Given the description of an element on the screen output the (x, y) to click on. 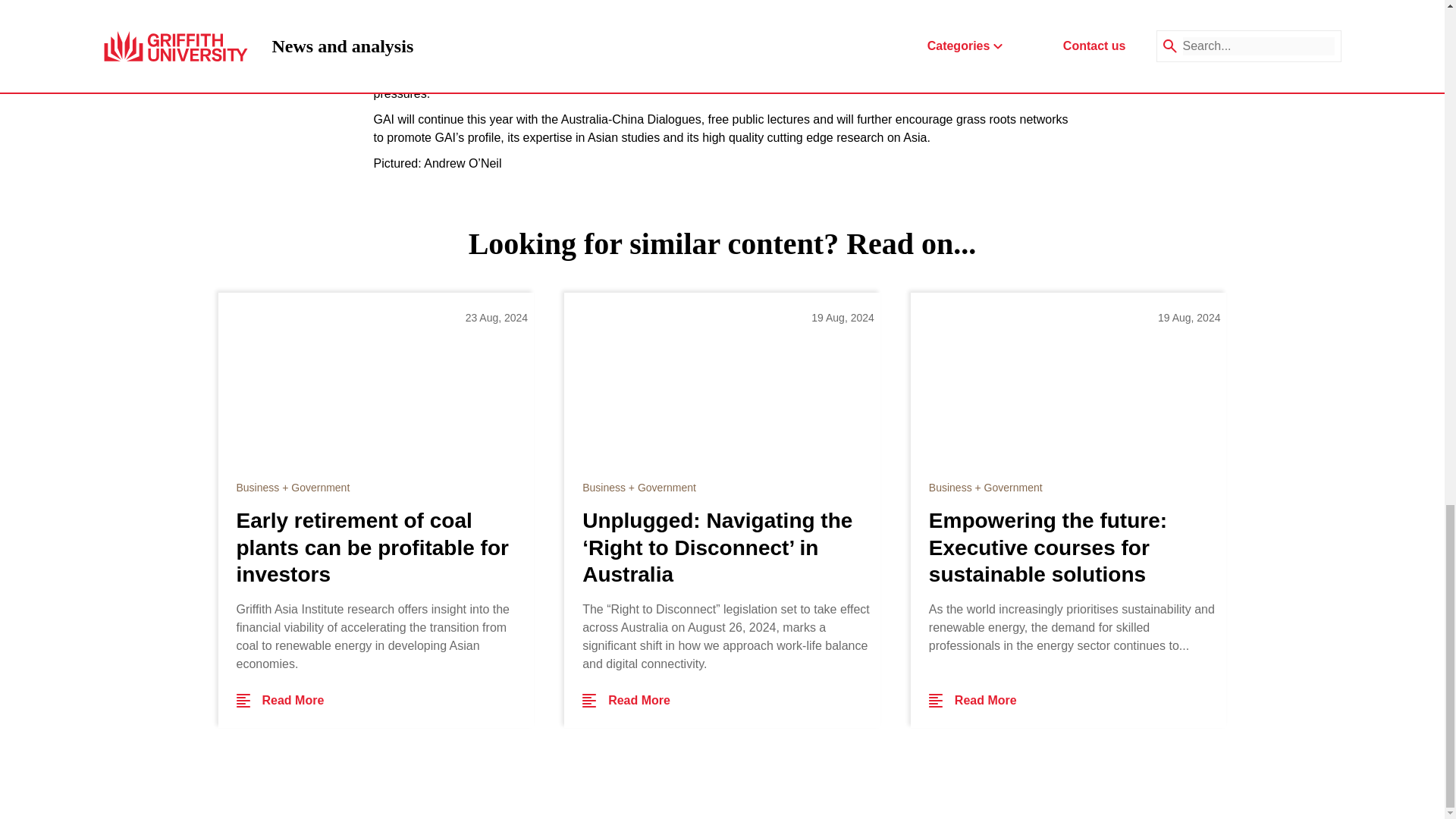
Read More (625, 700)
Read More (279, 700)
